Given the description of an element on the screen output the (x, y) to click on. 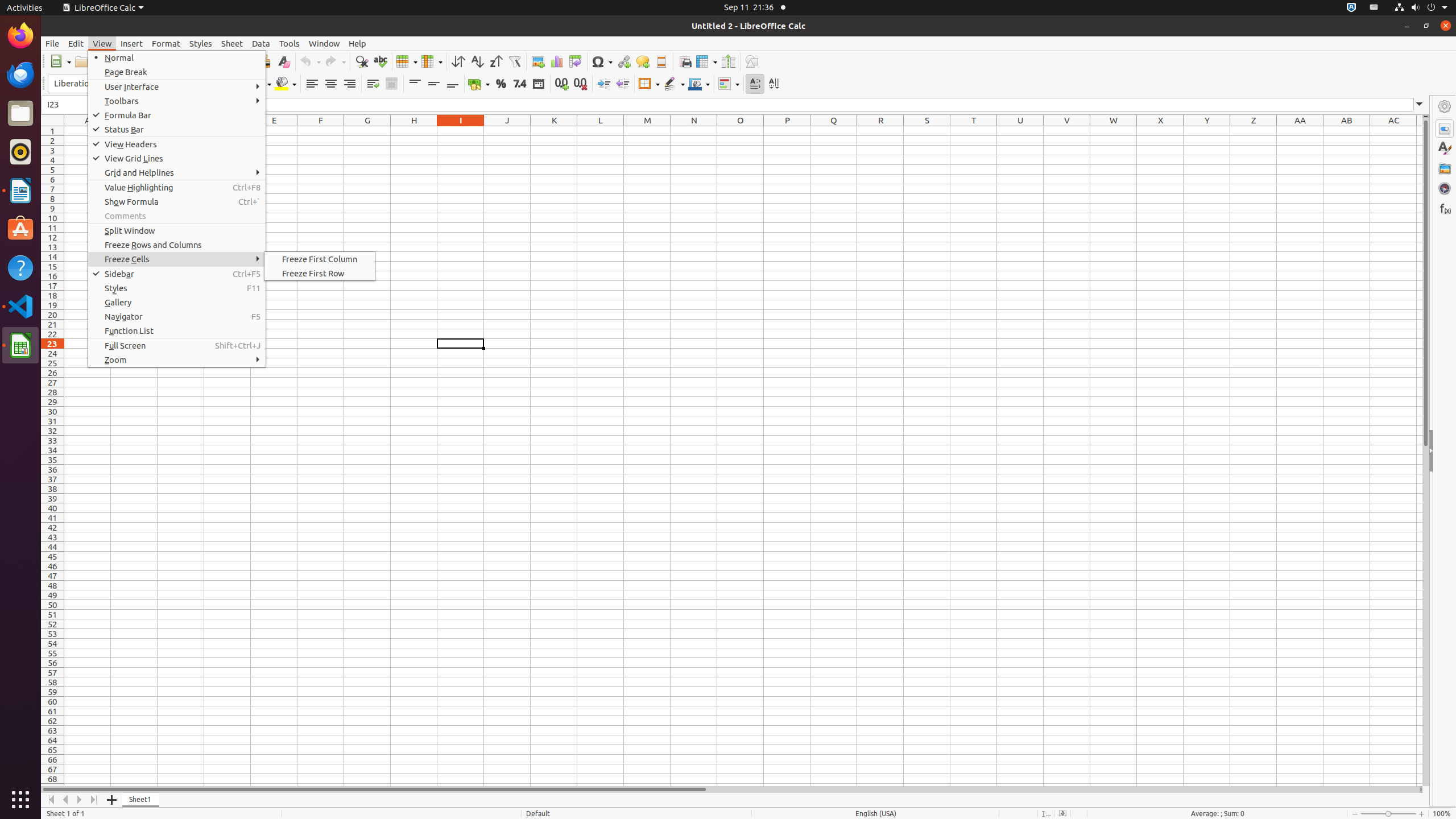
Wrap Text Element type: push-button (372, 83)
Vertical scroll bar Element type: scroll-bar (1425, 451)
Normal Element type: radio-menu-item (176, 57)
K1 Element type: table-cell (553, 130)
Split Window Element type: push-button (727, 61)
